Given the description of an element on the screen output the (x, y) to click on. 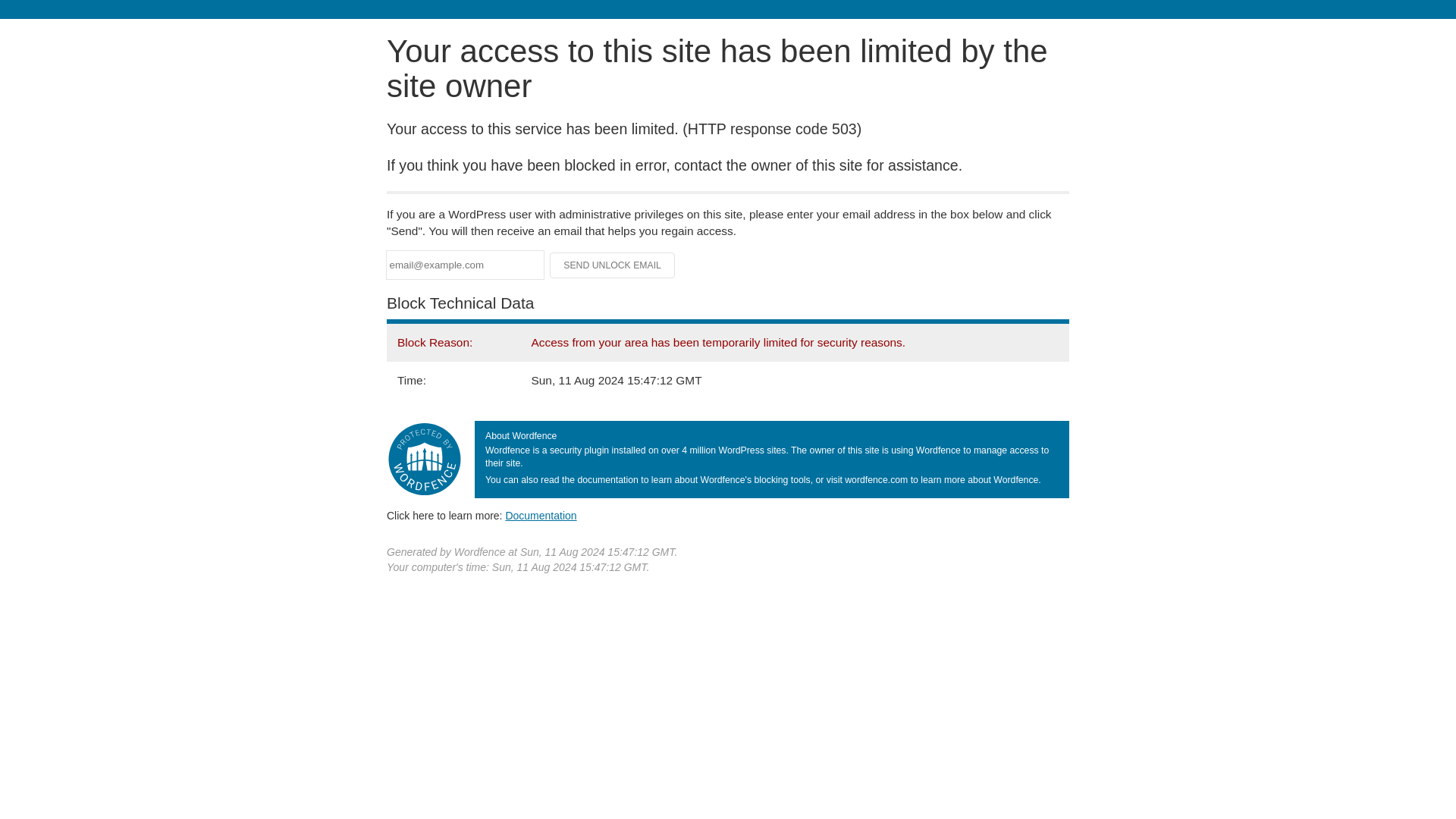
Documentation (540, 515)
Send Unlock Email (612, 265)
Send Unlock Email (612, 265)
